Given the description of an element on the screen output the (x, y) to click on. 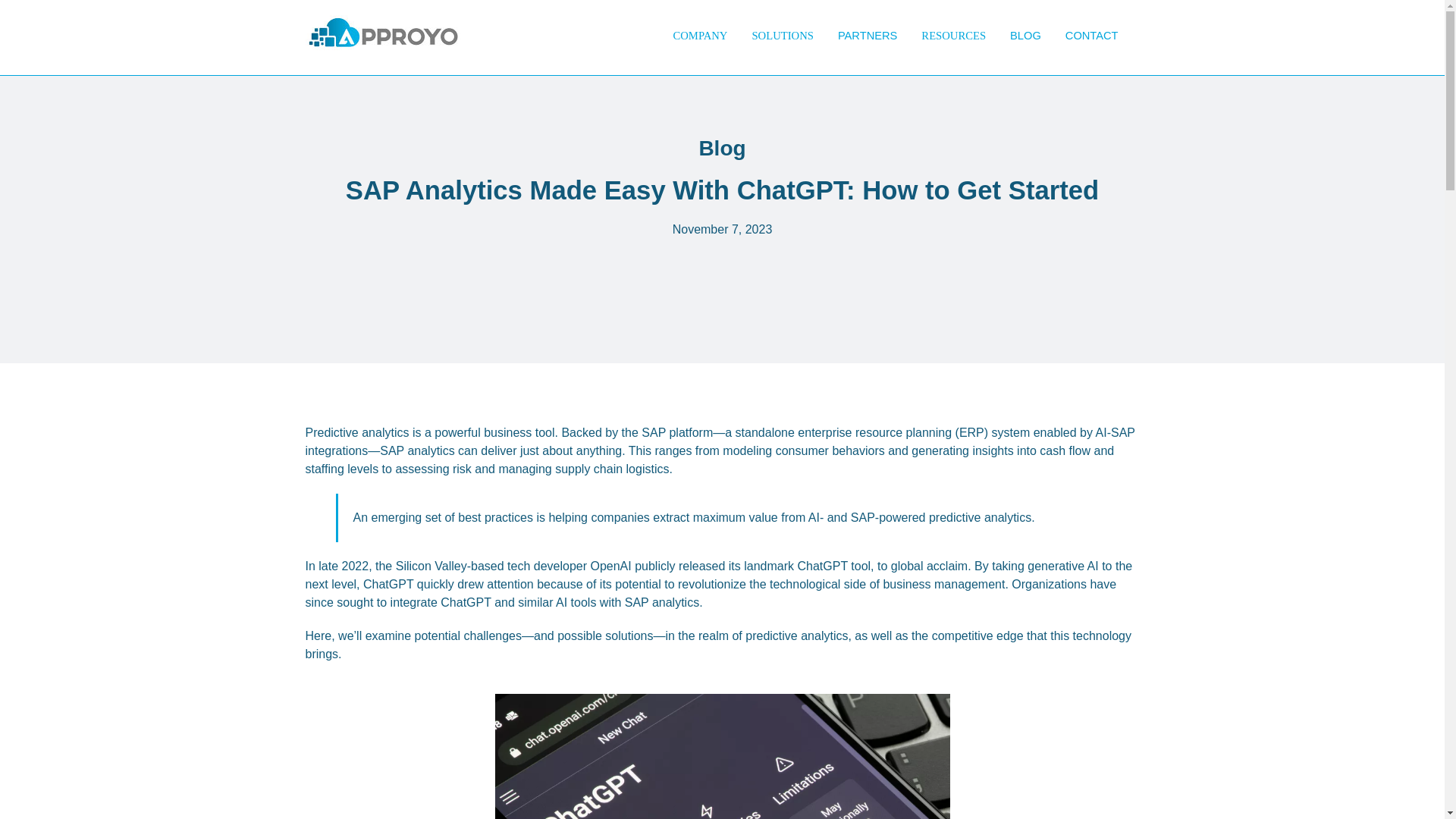
CONTACT (1091, 35)
SOLUTIONS (782, 35)
BLOG (1024, 35)
RESOURCES (952, 35)
PARTNERS (866, 35)
COMPANY (700, 35)
